Given the description of an element on the screen output the (x, y) to click on. 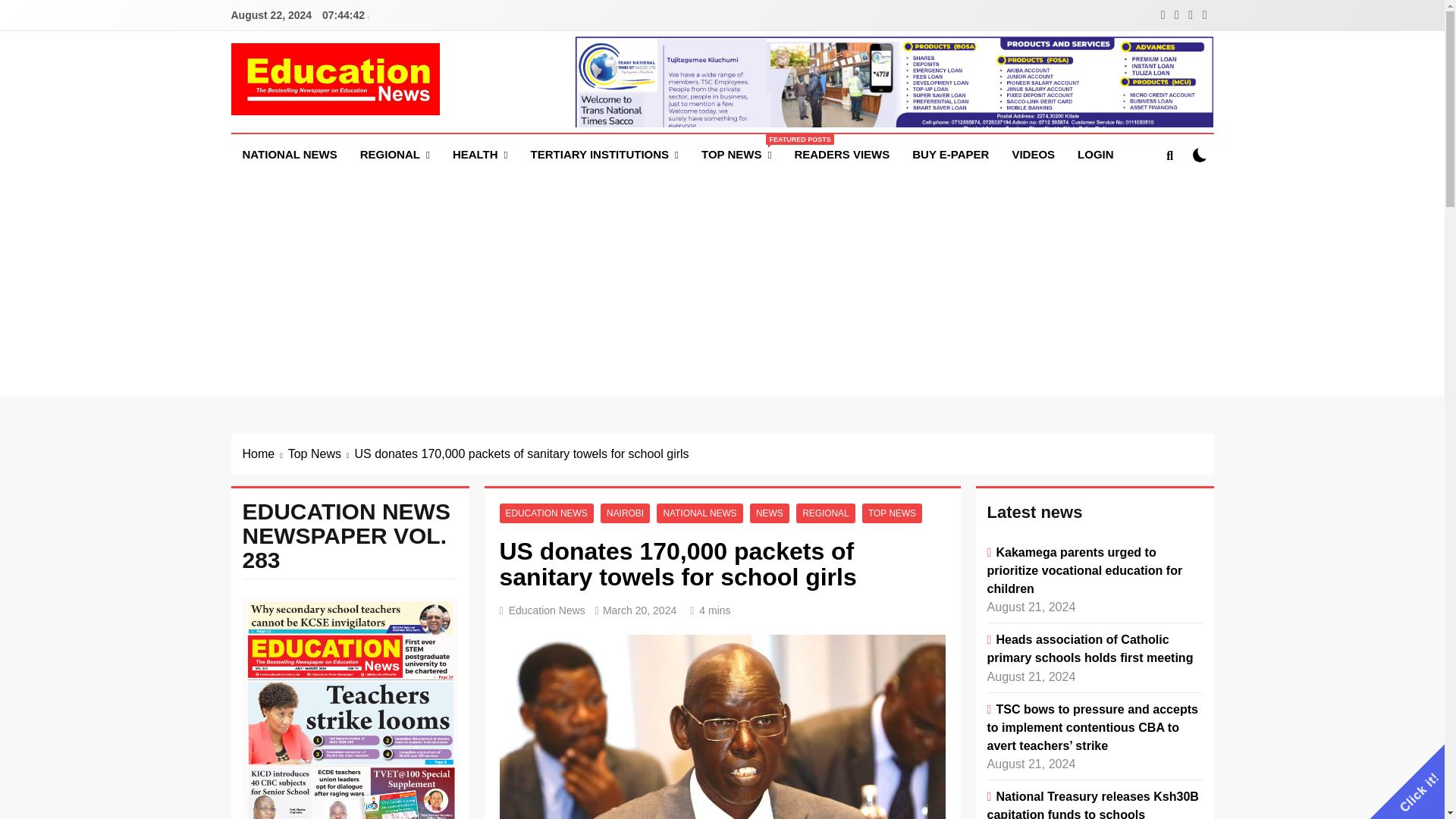
on (1199, 155)
REGIONAL (395, 155)
HEALTH (480, 155)
READERS VIEWS (842, 154)
Advertisement (736, 155)
TERTIARY INSTITUTIONS (950, 154)
NATIONAL NEWS (604, 155)
VIDEOS (288, 154)
